Given the description of an element on the screen output the (x, y) to click on. 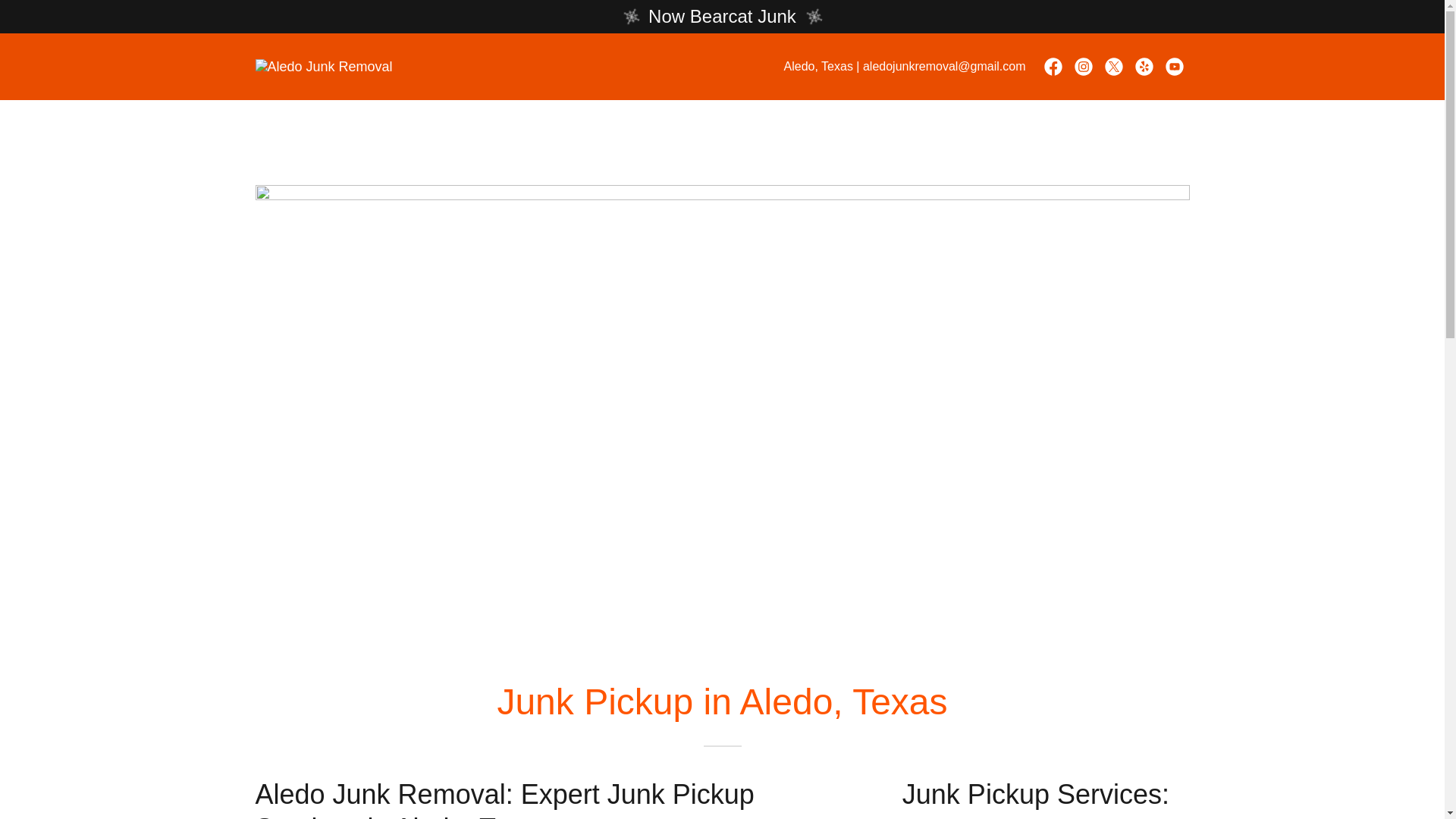
Aledo Junk Removal (322, 65)
